Given the description of an element on the screen output the (x, y) to click on. 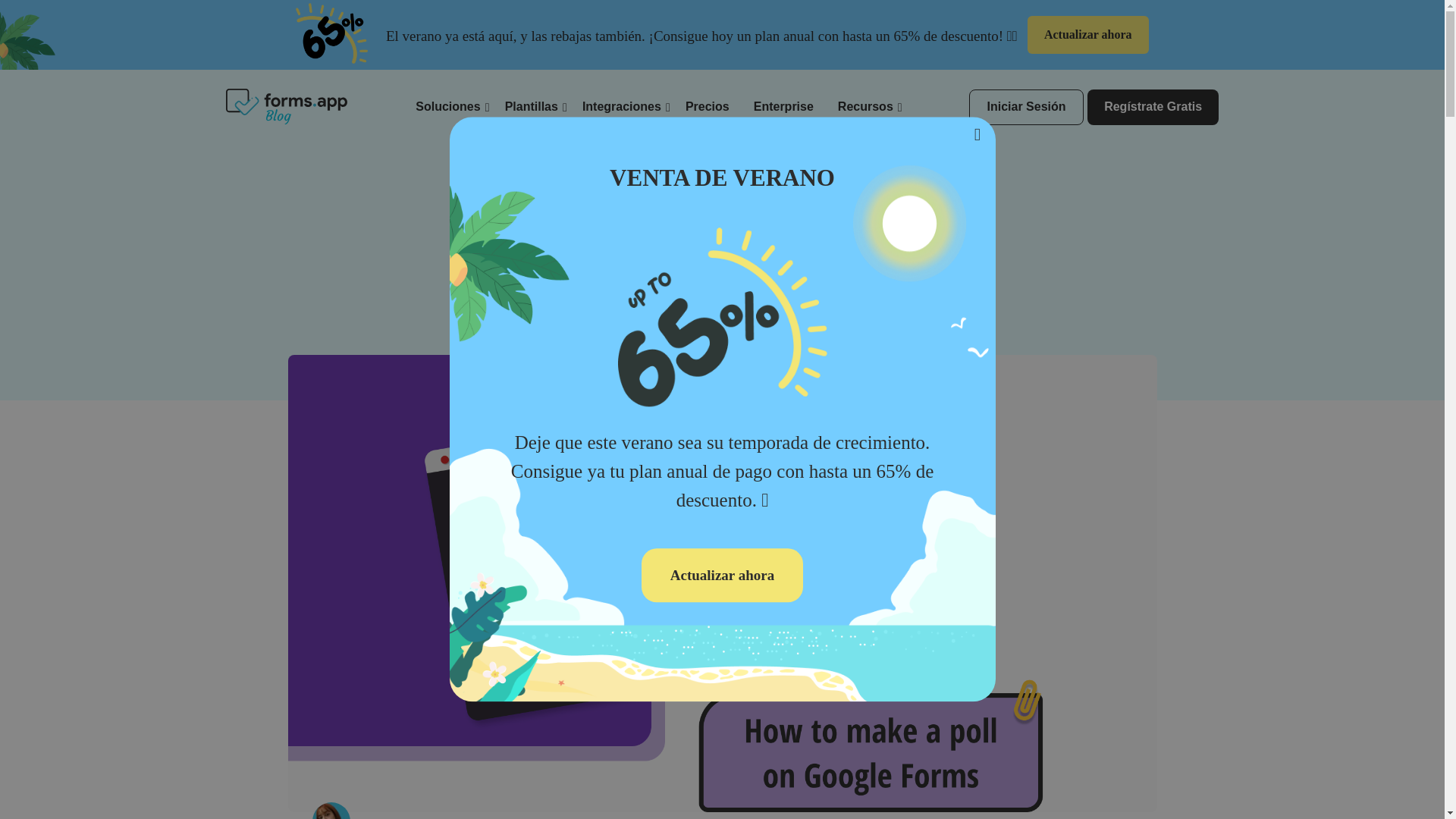
Precios (707, 106)
Enterprise (783, 106)
Actualizar ahora (1087, 34)
